Given the description of an element on the screen output the (x, y) to click on. 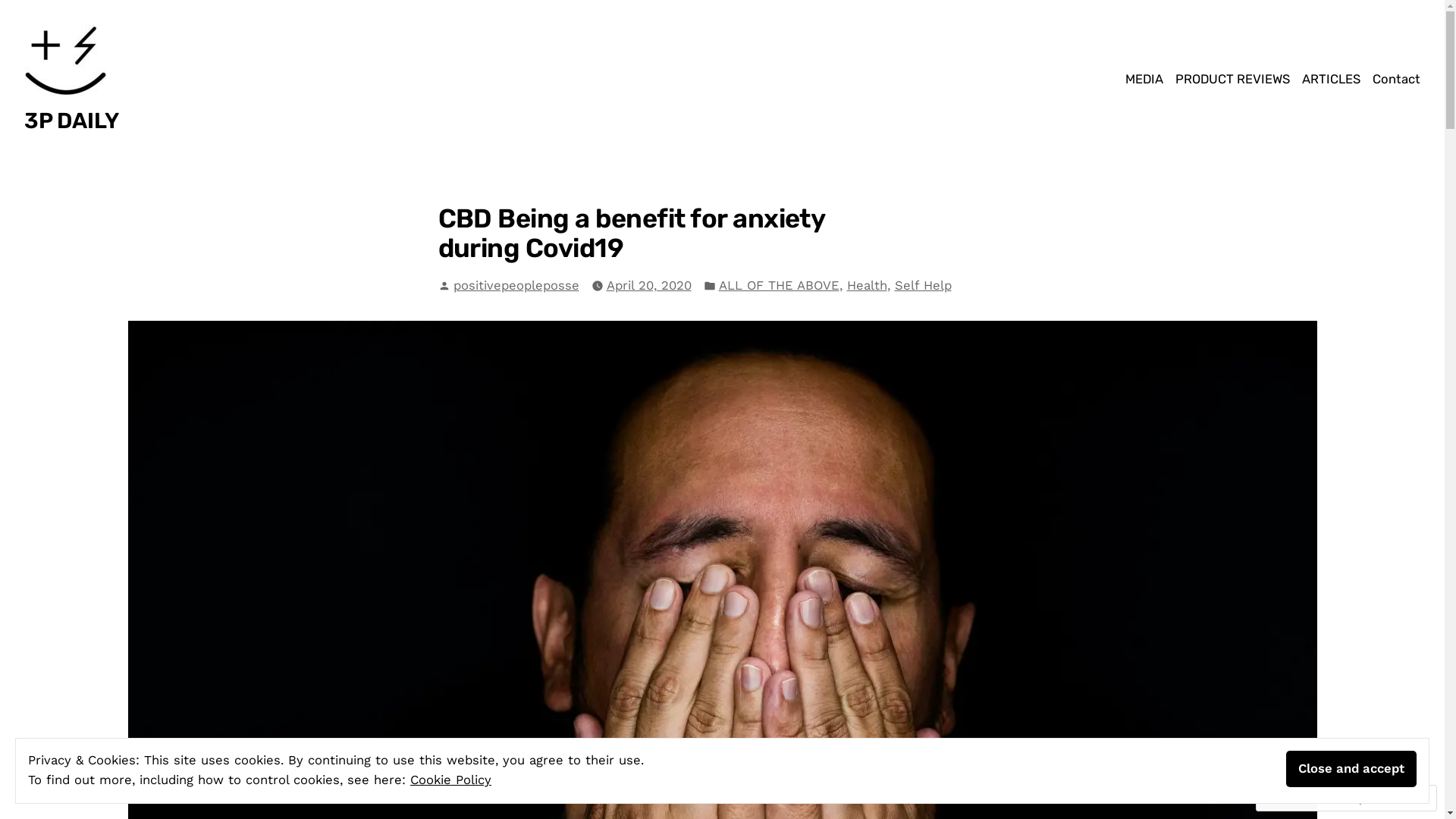
Cookie Policy Element type: text (450, 779)
Close and accept Element type: text (1351, 768)
3P DAILY Element type: text (71, 120)
April 20, 2020 Element type: text (648, 286)
Contact Element type: text (1393, 79)
Self Help Element type: text (922, 286)
positivepeopleposse Element type: text (516, 285)
Comment Element type: text (1297, 797)
ALL OF THE ABOVE Element type: text (778, 286)
Follow Element type: text (1372, 797)
Health Element type: text (866, 286)
MEDIA Element type: text (1147, 79)
ARTICLES Element type: text (1330, 79)
PRODUCT REVIEWS Element type: text (1232, 79)
